Given the description of an element on the screen output the (x, y) to click on. 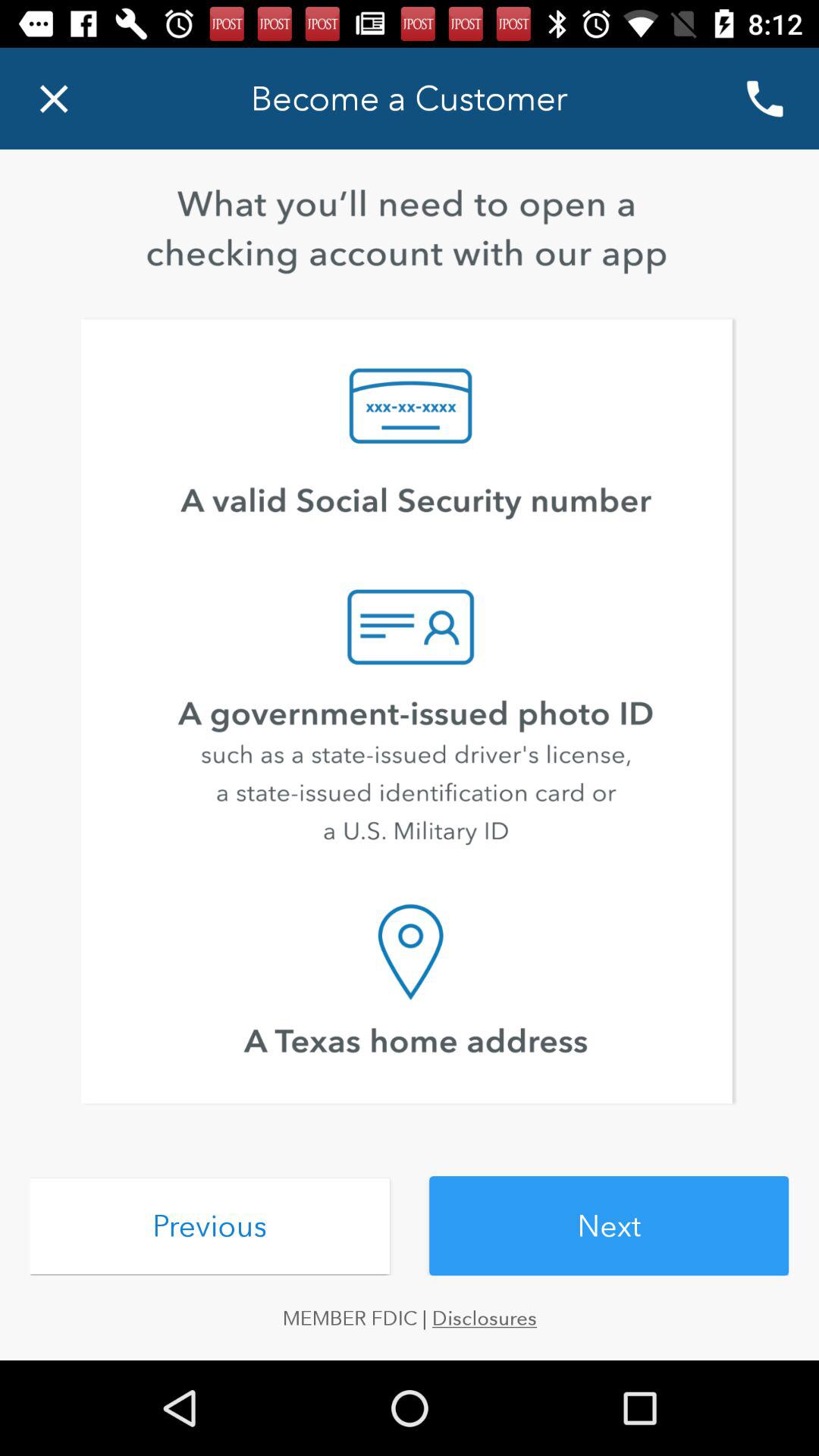
open the next (608, 1225)
